Given the description of an element on the screen output the (x, y) to click on. 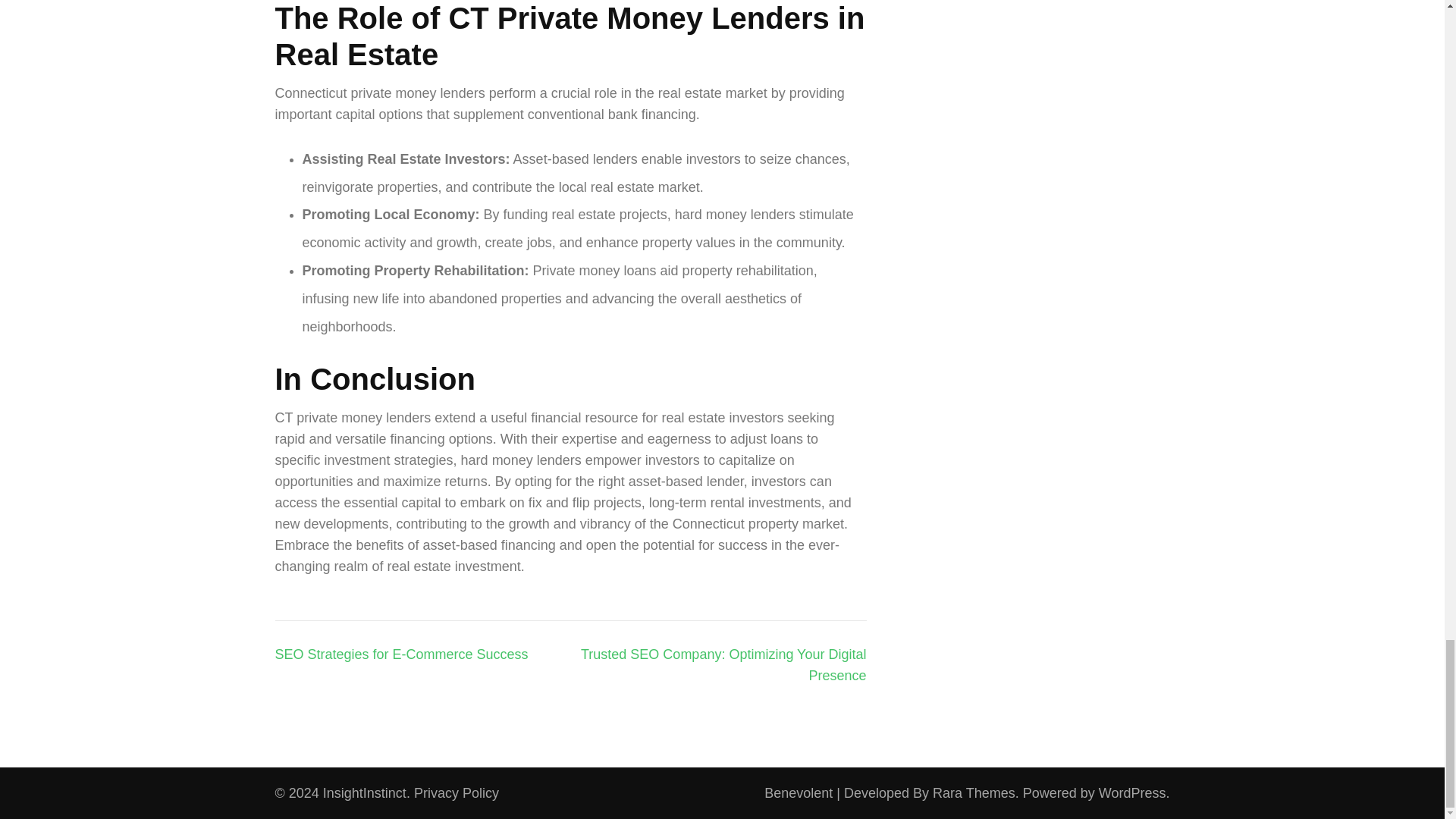
Trusted SEO Company: Optimizing Your Digital Presence (723, 665)
SEO Strategies for E-Commerce Success (401, 654)
